Given the description of an element on the screen output the (x, y) to click on. 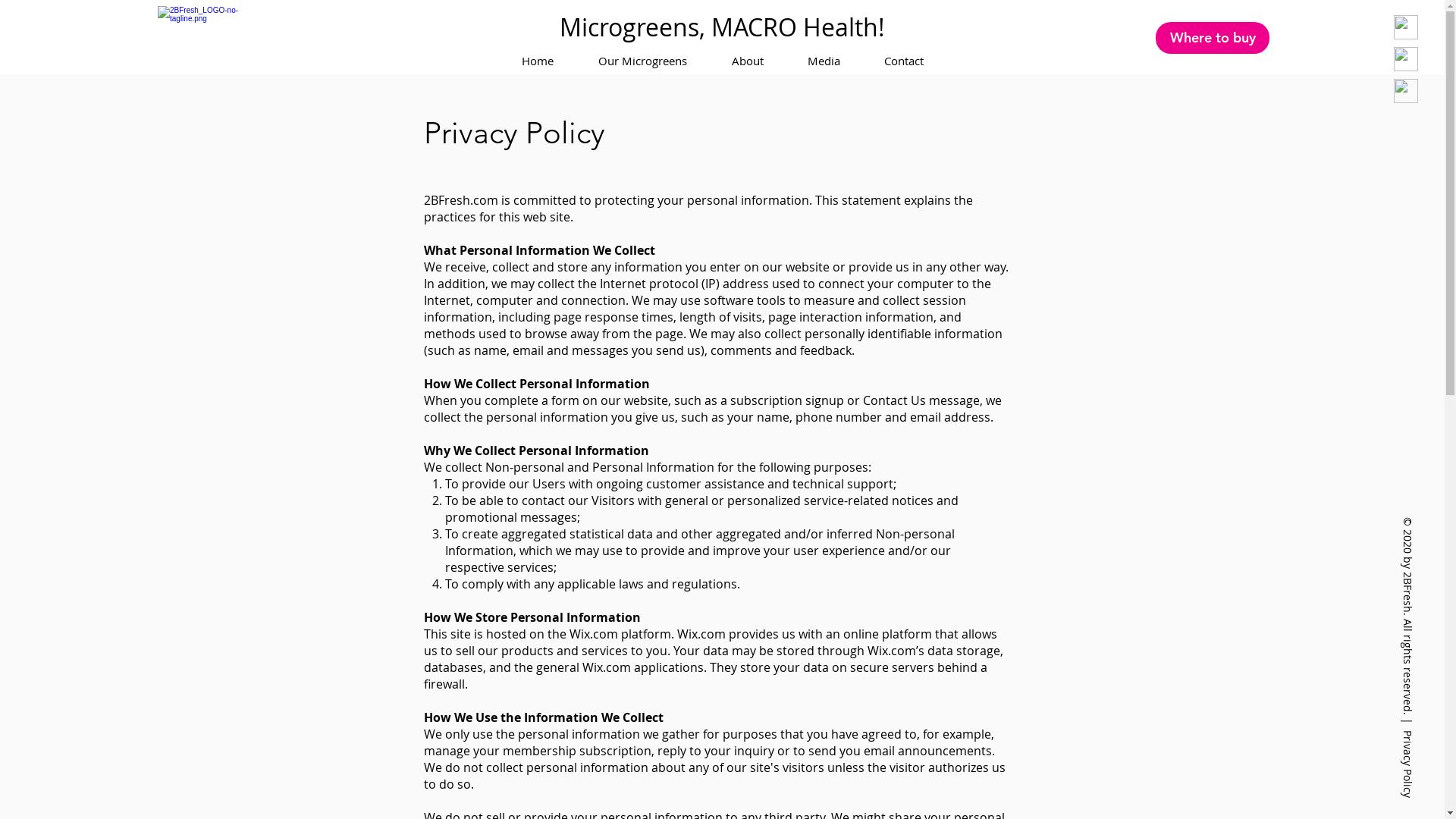
Where to buy Element type: text (1212, 37)
Contact Element type: text (902, 60)
About Element type: text (747, 60)
Home Element type: text (536, 60)
Our Microgreens Element type: text (642, 60)
Media Element type: text (823, 60)
2BFresh-Logo-trans.png Element type: hover (214, 37)
